Given the description of an element on the screen output the (x, y) to click on. 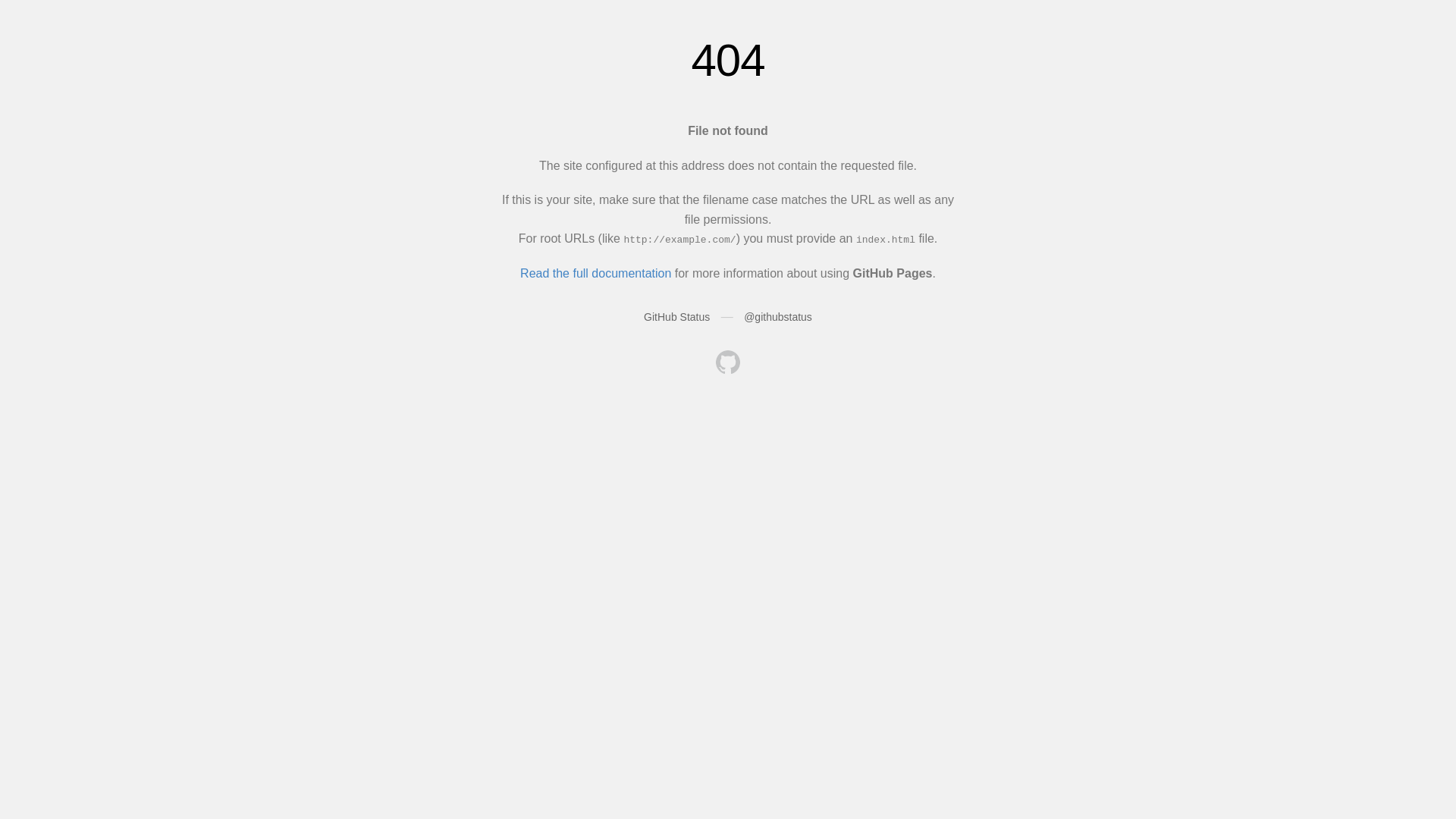
GitHub Status Element type: text (676, 316)
Read the full documentation Element type: text (595, 272)
@githubstatus Element type: text (777, 316)
